Given the description of an element on the screen output the (x, y) to click on. 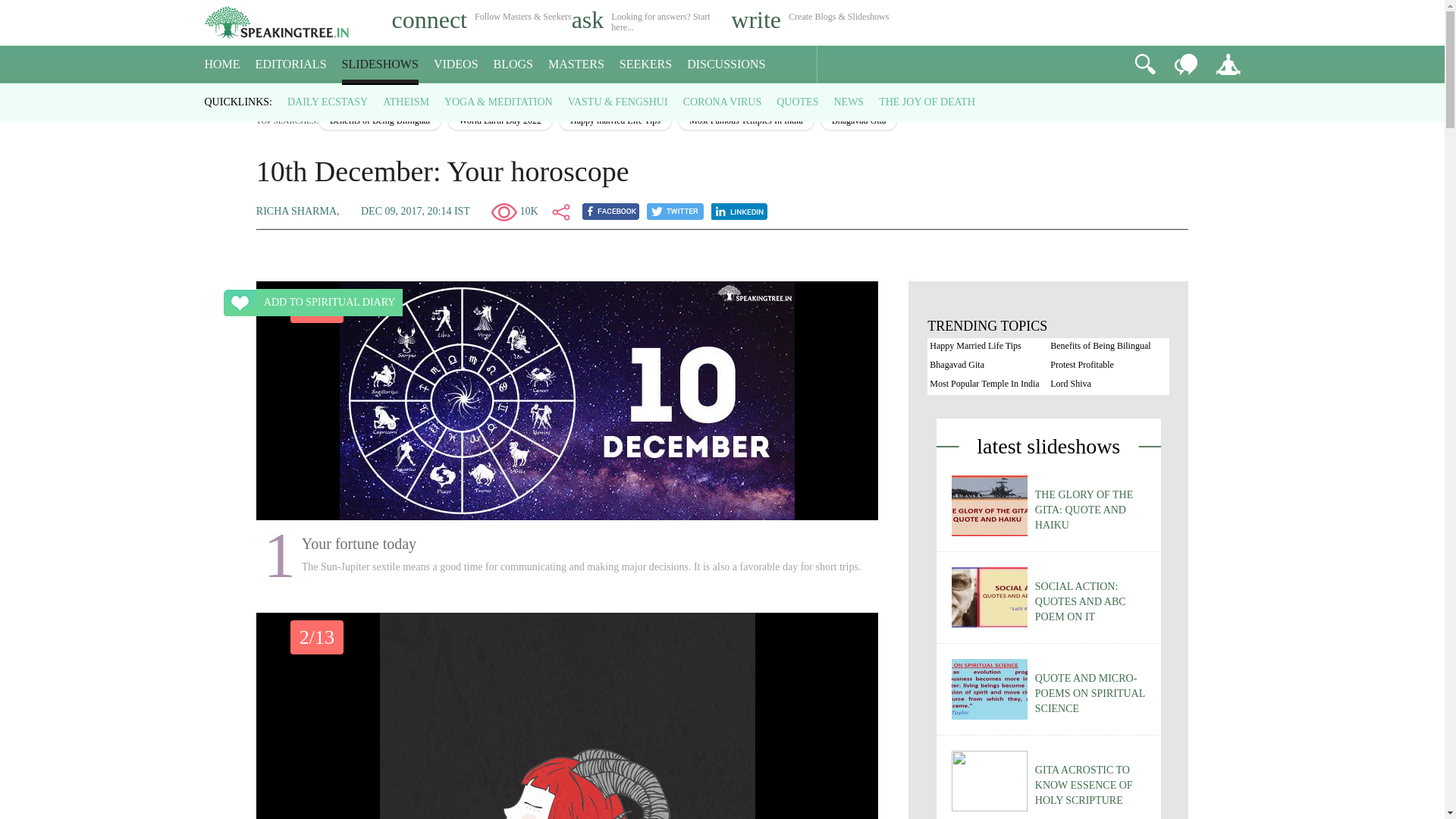
Share on Twitter (674, 211)
Slideshows (314, 96)
SEEKERS (645, 64)
MASTERS (576, 64)
QUOTES (797, 101)
HOME (222, 64)
THE JOY OF DEATH (927, 101)
BLOGS (512, 64)
VIDEOS (456, 64)
ATHEISM (405, 101)
